Given the description of an element on the screen output the (x, y) to click on. 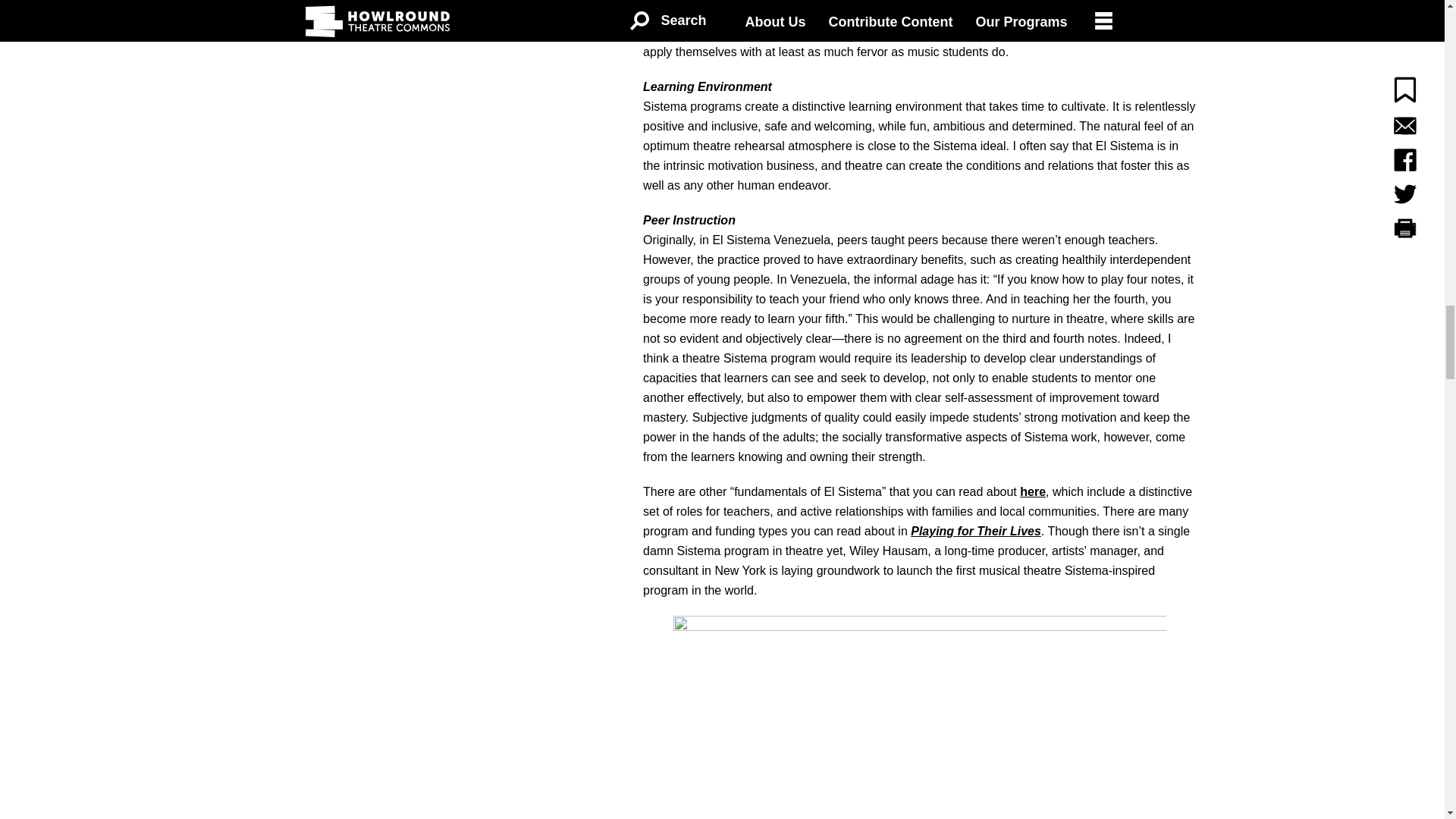
here (1032, 491)
Playing for Their Lives (976, 530)
